Given the description of an element on the screen output the (x, y) to click on. 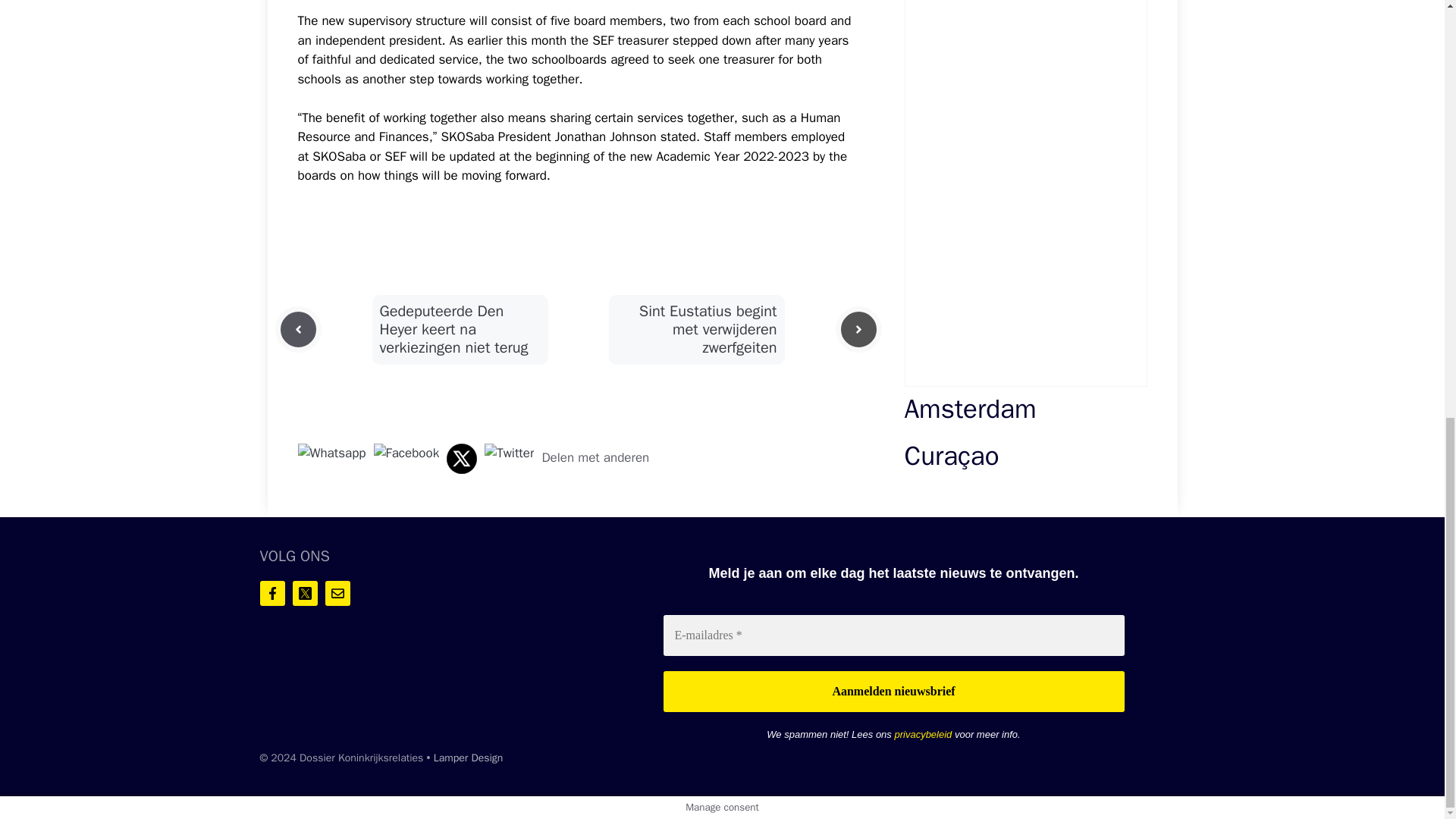
Delen via Email (509, 453)
Aanmelden nieuwsbrief (893, 690)
Sint Eustatius begint met verwijderen zwerfgeiten (708, 329)
Lamper Design (468, 757)
Aanmelden nieuwsbrief (893, 690)
privacybeleid (922, 734)
Gedeputeerde Den Heyer keert na verkiezingen niet terug (452, 329)
E-mailadres (893, 635)
